Given the description of an element on the screen output the (x, y) to click on. 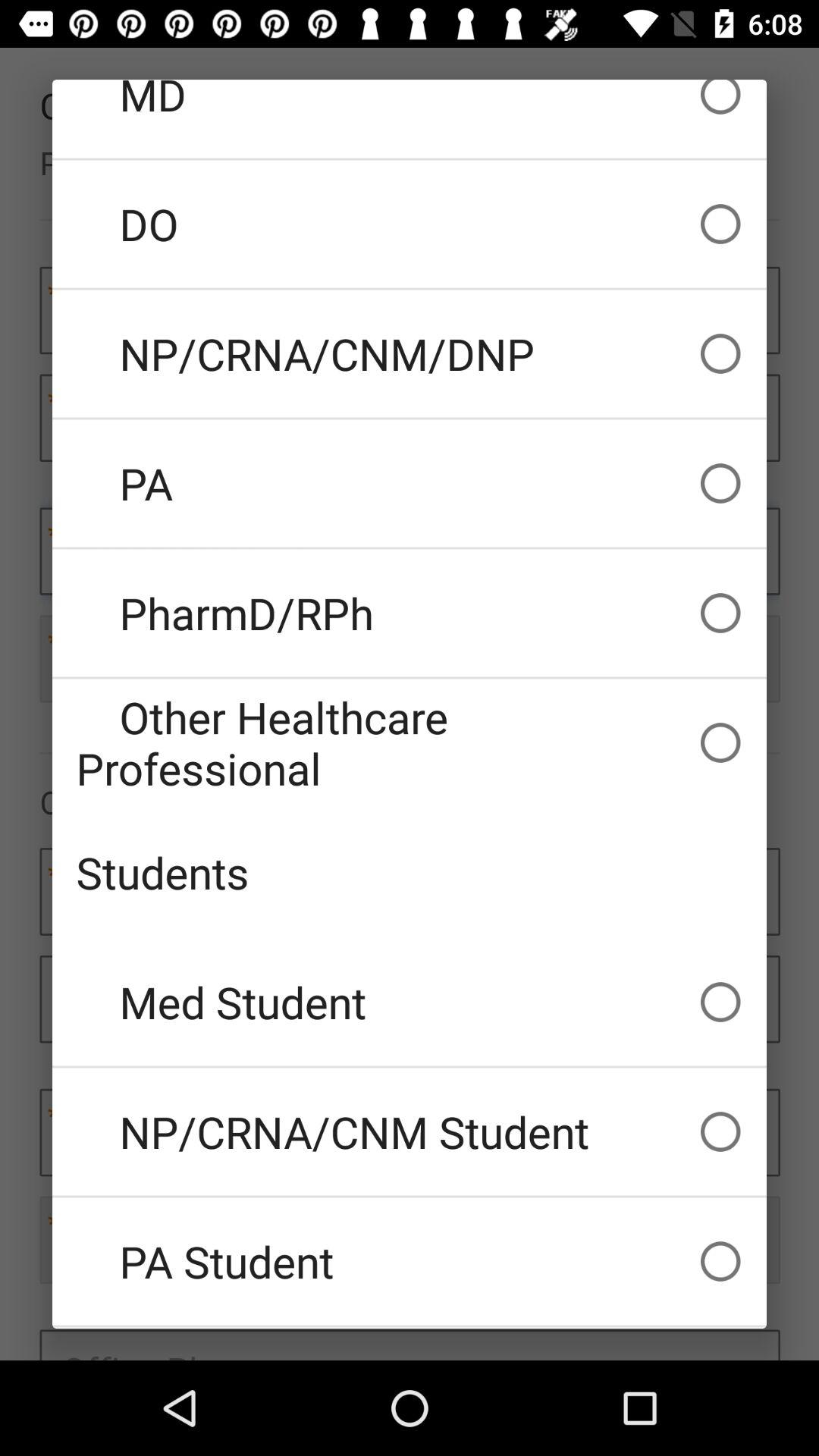
launch icon below the     pa student item (409, 1327)
